Given the description of an element on the screen output the (x, y) to click on. 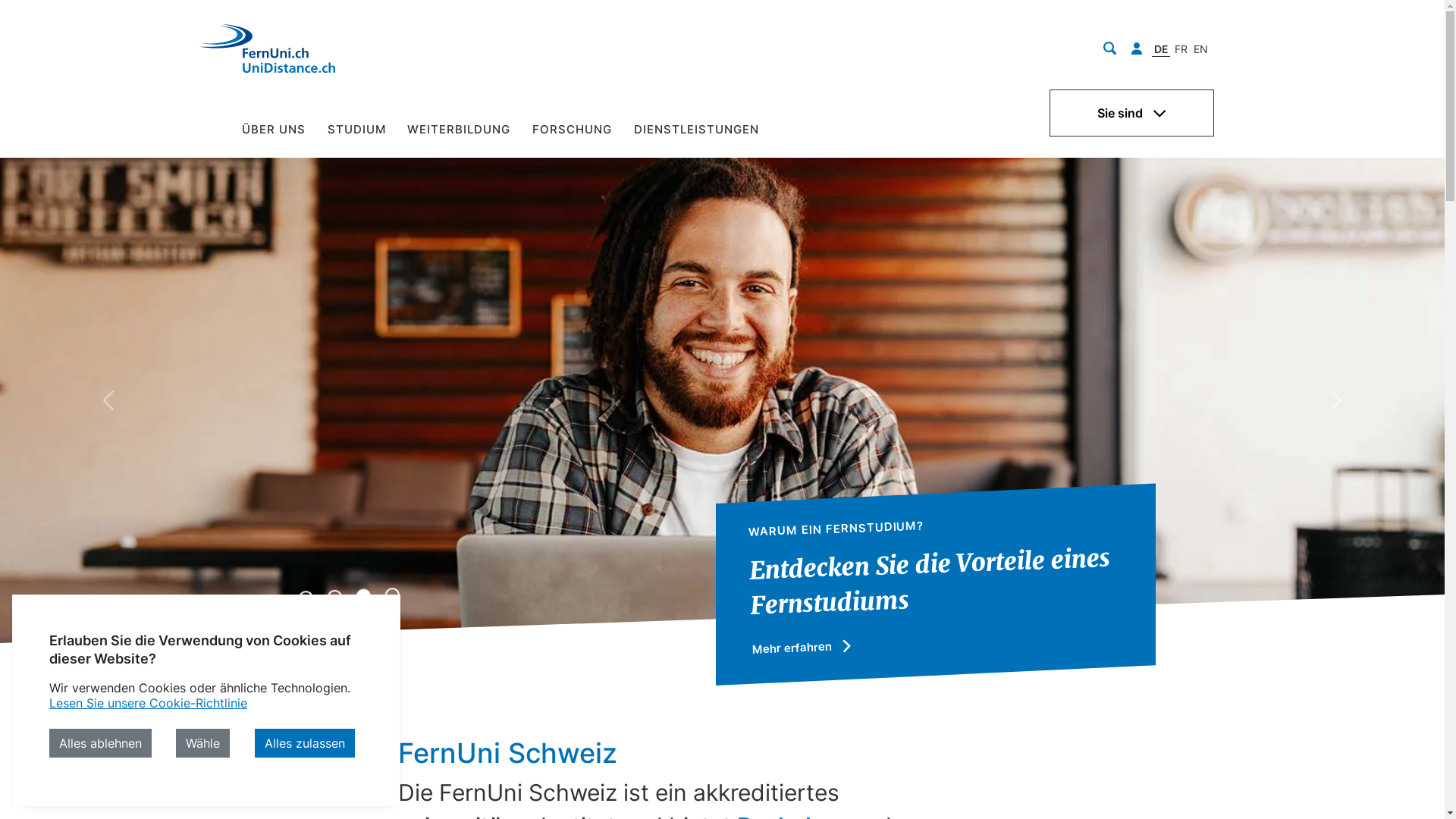
DE Element type: text (1161, 48)
STUDIUM Element type: text (356, 133)
Next Element type: text (1335, 400)
FORSCHUNG Element type: text (572, 133)
Mehr erfahren Element type: text (804, 645)
Alles zulassen Element type: text (304, 742)
DIENSTLEISTUNGEN Element type: text (695, 133)
FR Element type: text (1179, 48)
Sie sind Element type: text (1131, 112)
Previous Element type: text (108, 400)
WEITERBILDUNG Element type: text (458, 133)
Lesen Sie unsere Cookie-Richtlinie Element type: text (148, 702)
Alles ablehnen Element type: text (100, 742)
EN Element type: text (1200, 48)
